Given the description of an element on the screen output the (x, y) to click on. 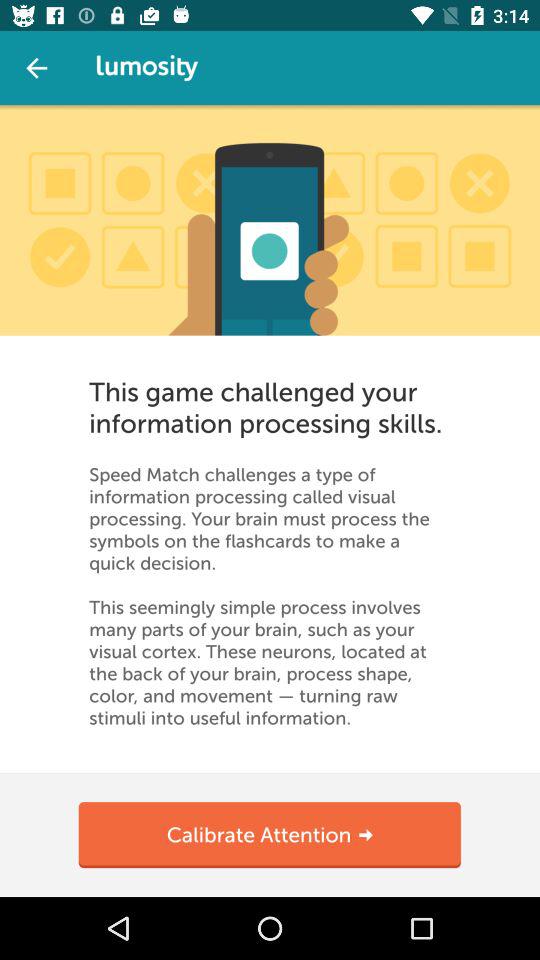
go back (36, 68)
